Given the description of an element on the screen output the (x, y) to click on. 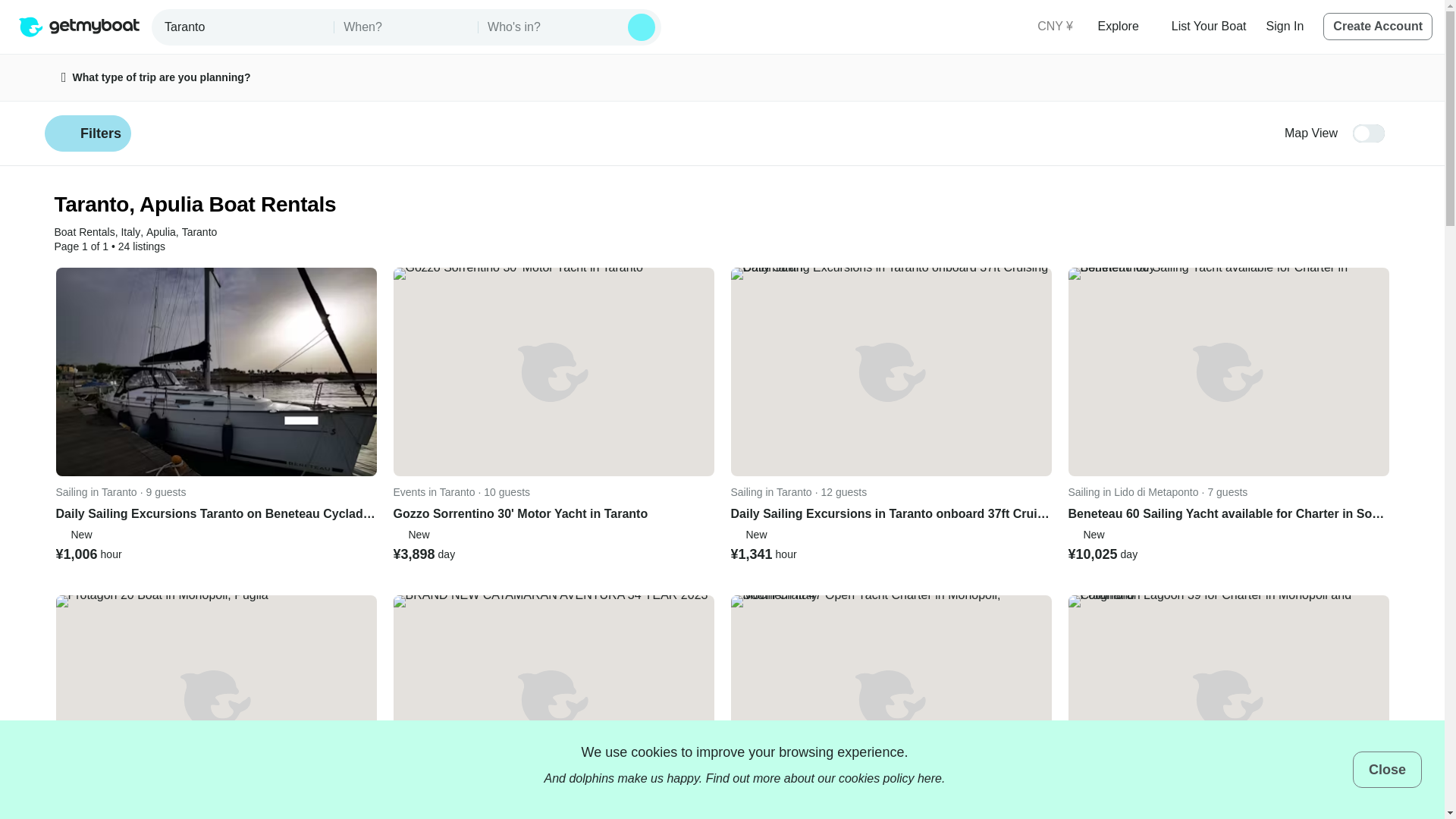
Filters (88, 133)
Boat Rentals (85, 232)
Taranto (244, 26)
Explore (1123, 25)
Close (1387, 769)
List Your Boat (1209, 26)
Search (641, 26)
Sign In (1285, 26)
cookies policy here (890, 778)
Apulia (161, 232)
Italy (129, 232)
Create Account (1377, 26)
Taranto (199, 232)
